Given the description of an element on the screen output the (x, y) to click on. 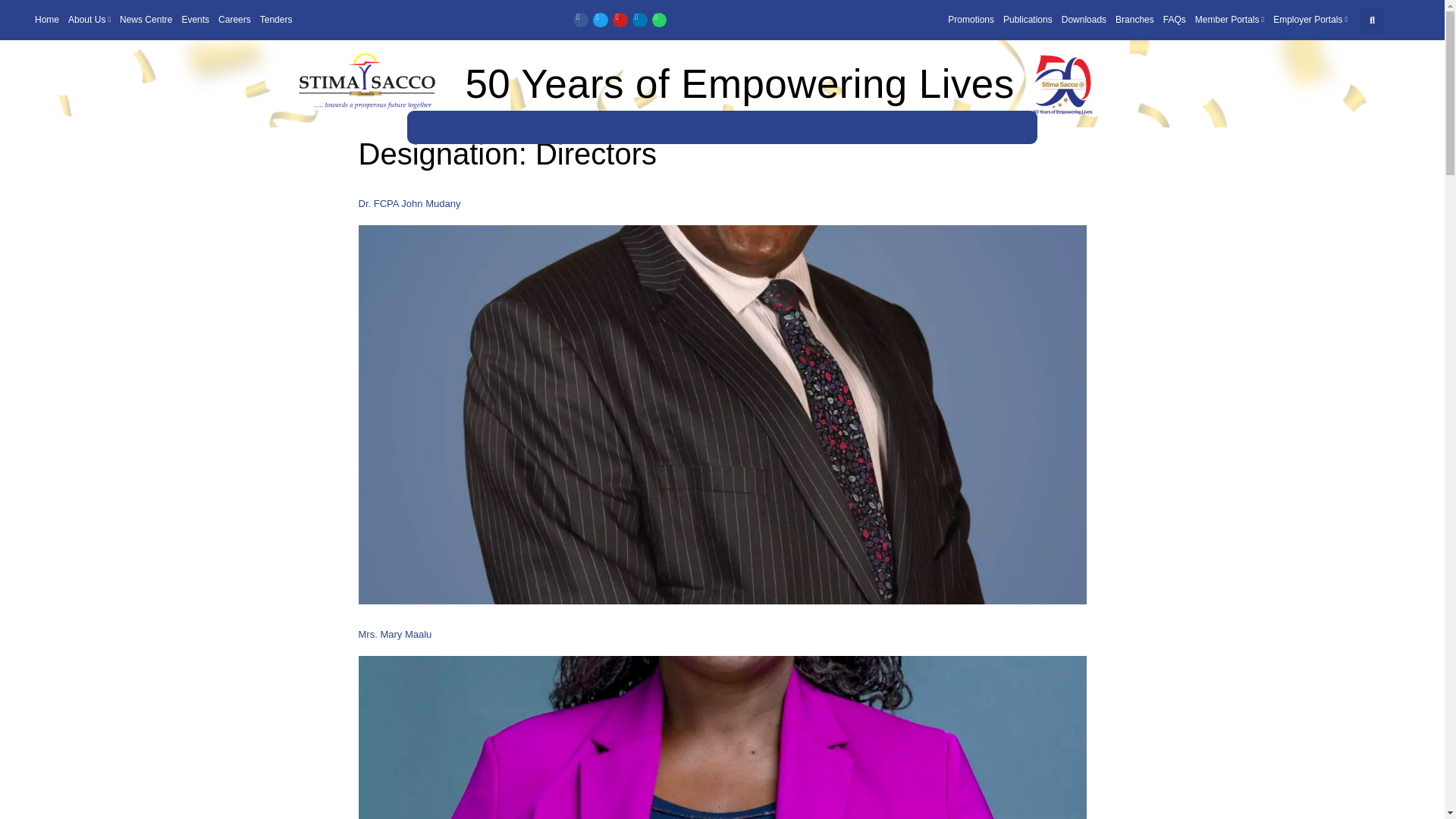
Employer Portals (1310, 19)
Promotions (970, 19)
Branches (1134, 19)
Events (195, 19)
Careers (235, 19)
About Us (89, 19)
News Centre (145, 19)
Publications (1027, 19)
FAQs (1174, 19)
Home (47, 19)
